Given the description of an element on the screen output the (x, y) to click on. 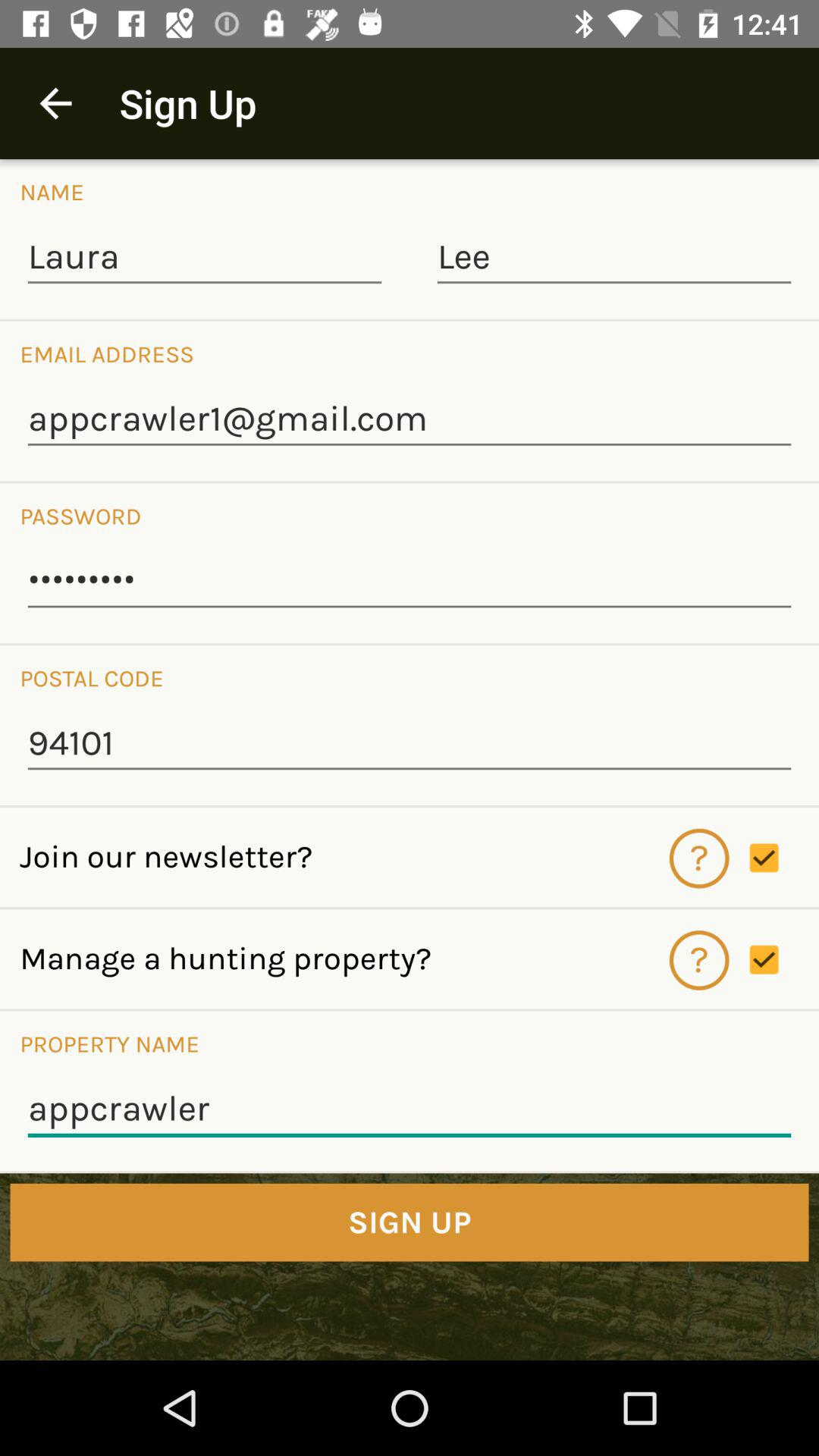
toggle manage property (784, 959)
